Given the description of an element on the screen output the (x, y) to click on. 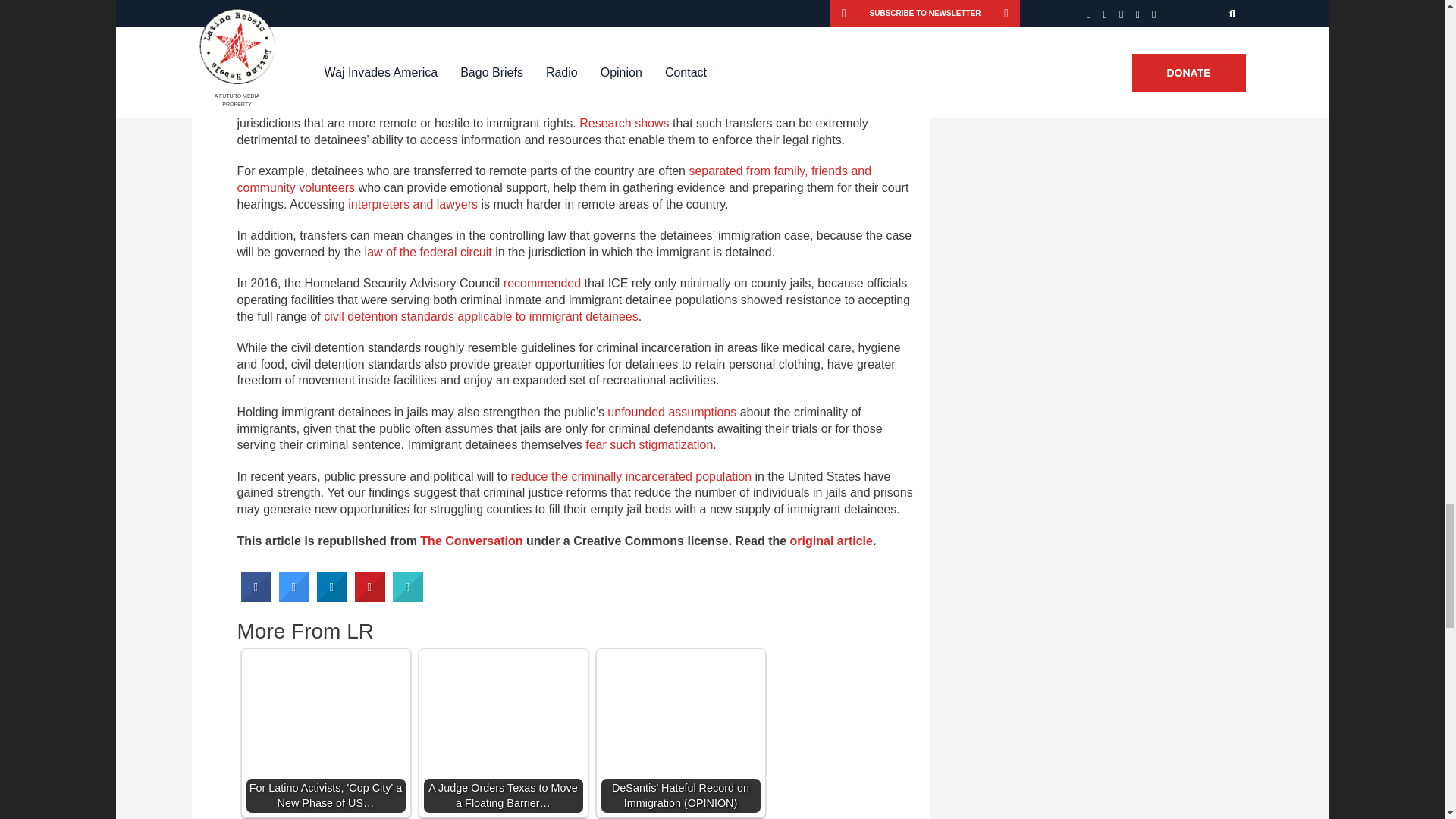
Share to LinkedIn (332, 597)
Share on Twitter (293, 597)
Share on Pinterest (370, 597)
Print this page (408, 597)
Share on Facebook (255, 597)
